Given the description of an element on the screen output the (x, y) to click on. 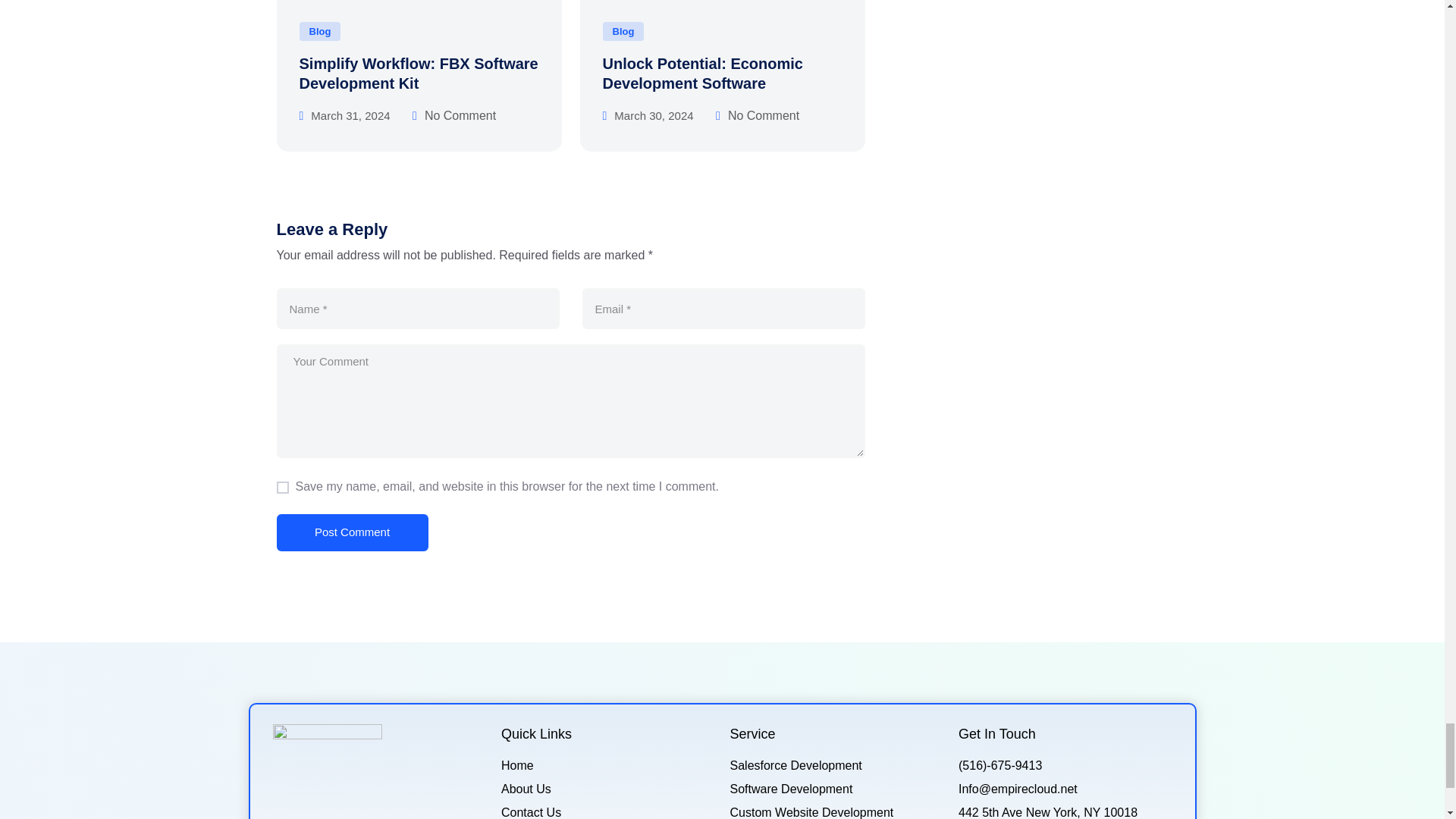
Post Comment (352, 532)
